Given the description of an element on the screen output the (x, y) to click on. 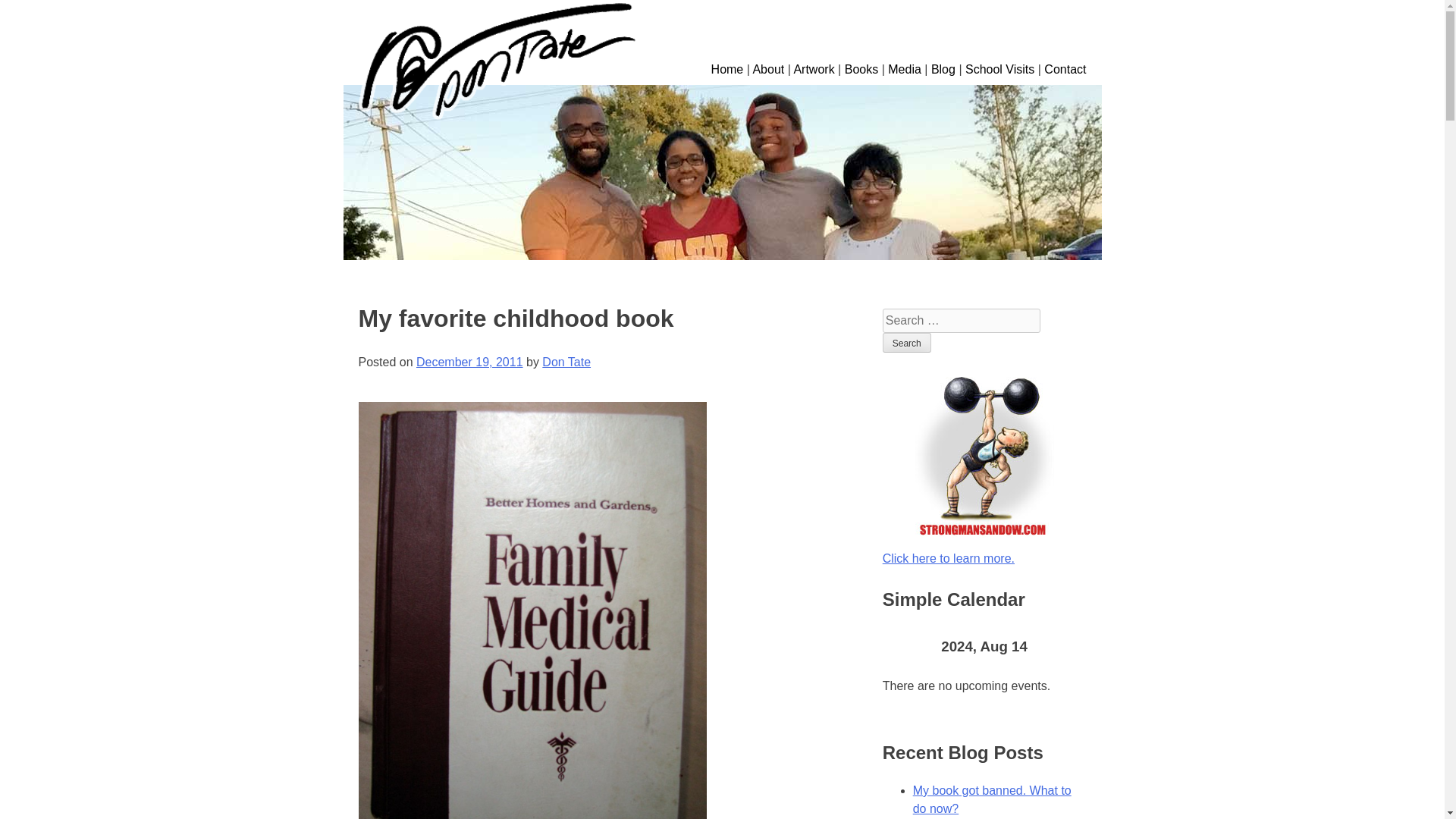
Books (860, 69)
Search (906, 342)
My book got banned. What to do now? (991, 798)
School Visits (999, 69)
Next (1065, 646)
Contact (1064, 69)
Search (906, 342)
Artwork (813, 69)
Previous (902, 646)
Don Tate (566, 361)
